Given the description of an element on the screen output the (x, y) to click on. 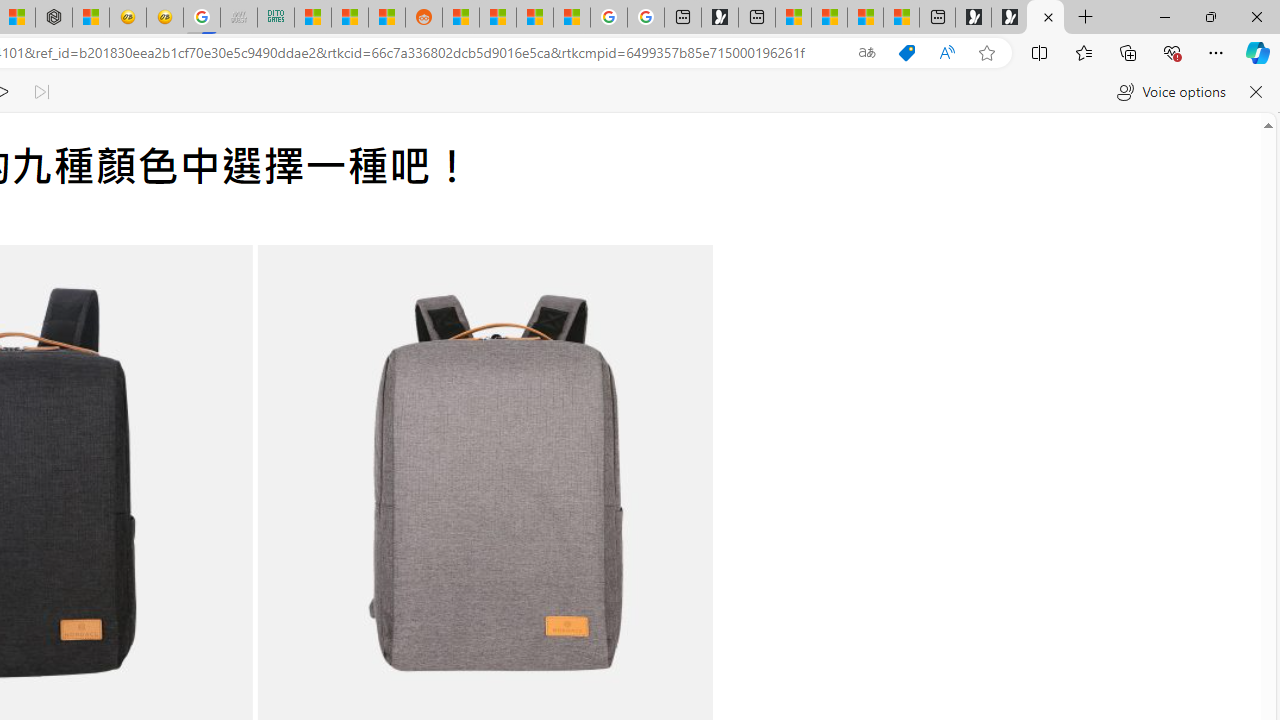
Read next paragraph (40, 92)
Nordace - Nordace Siena Is Not An Ordinary Backpack (1045, 17)
Close read aloud (1255, 92)
Microsoft Start Gaming (719, 17)
